Given the description of an element on the screen output the (x, y) to click on. 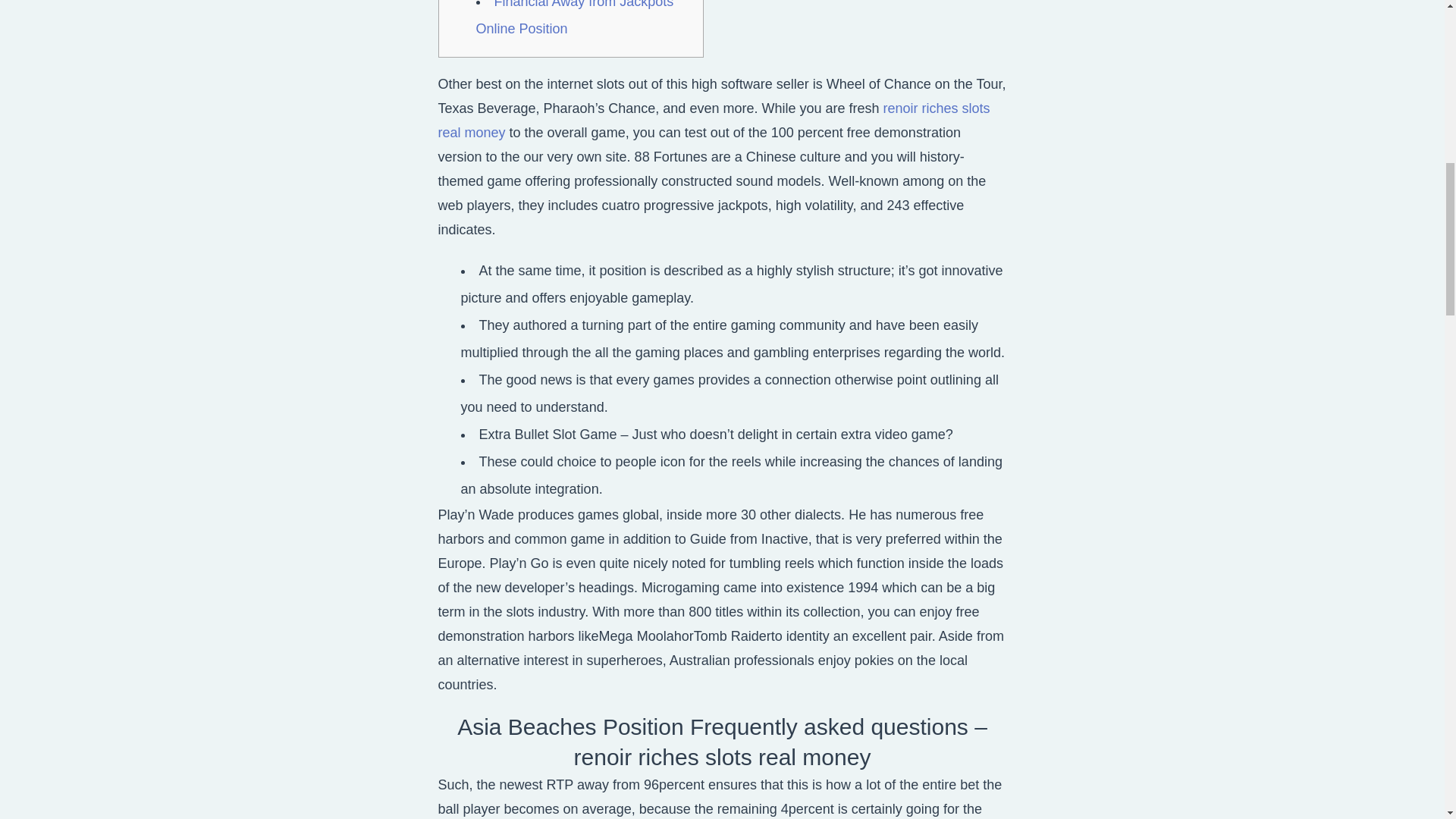
renoir riches slots real money (714, 119)
Financial Away from Jackpots Online Position (575, 18)
